Given the description of an element on the screen output the (x, y) to click on. 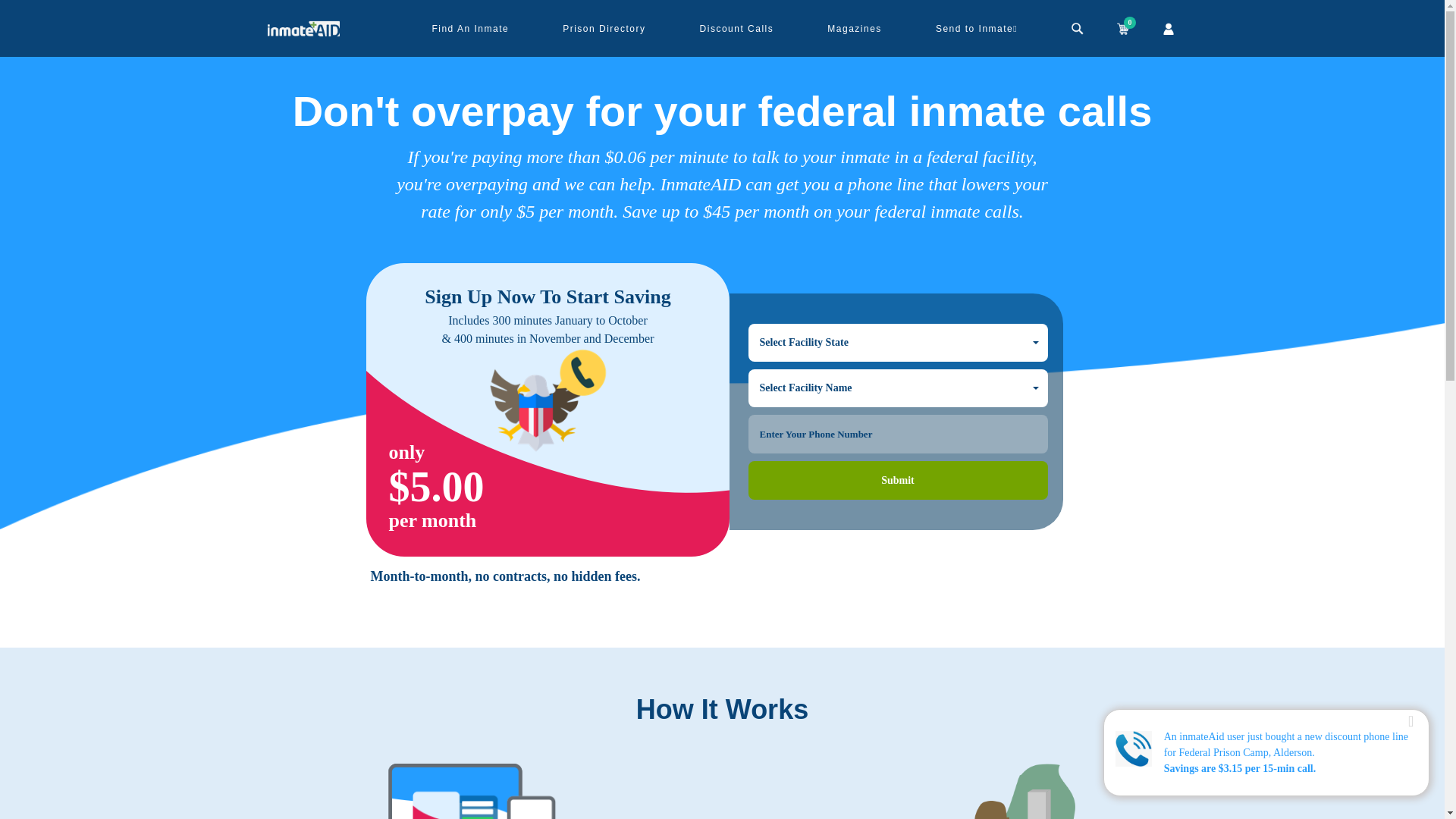
Magazines (854, 28)
Select Facility Name (897, 388)
Select Facility State (897, 342)
0 (1123, 27)
Discount Calls (737, 28)
Send to Inmate (976, 28)
Prison Directory (897, 342)
Find An Inmate (603, 28)
